Given the description of an element on the screen output the (x, y) to click on. 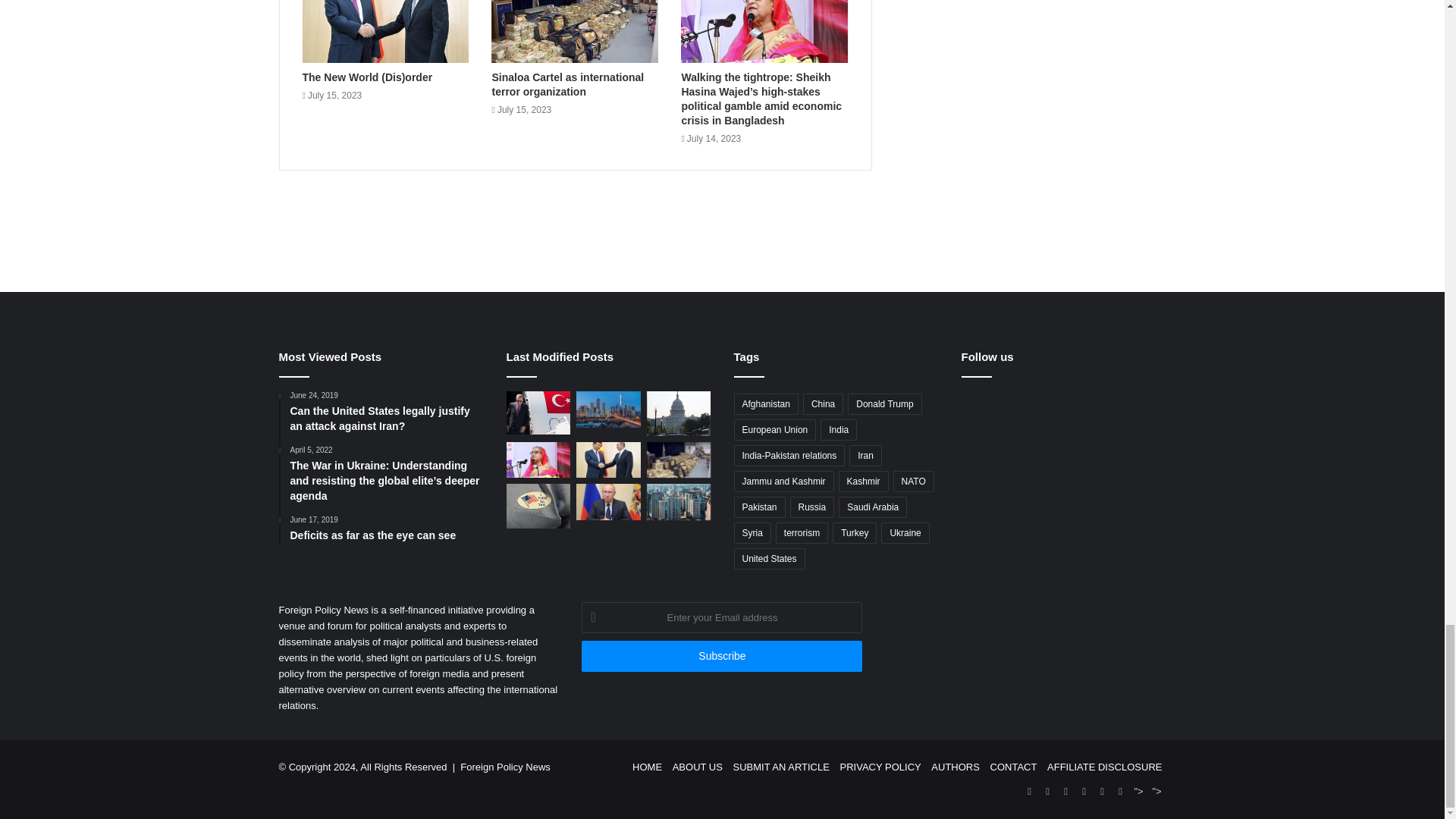
Subscribe (720, 655)
